Given the description of an element on the screen output the (x, y) to click on. 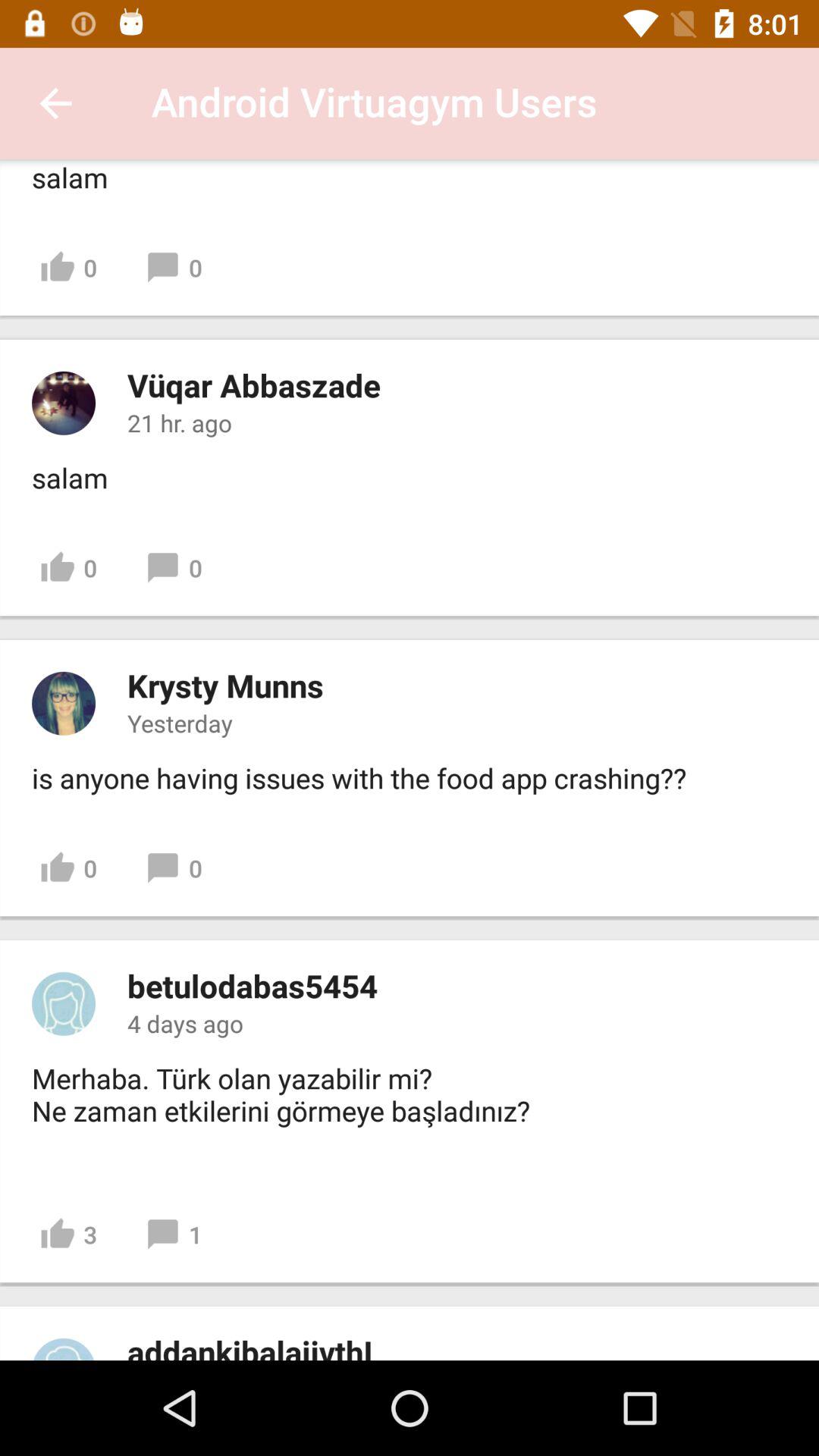
click on profile (63, 1003)
